Given the description of an element on the screen output the (x, y) to click on. 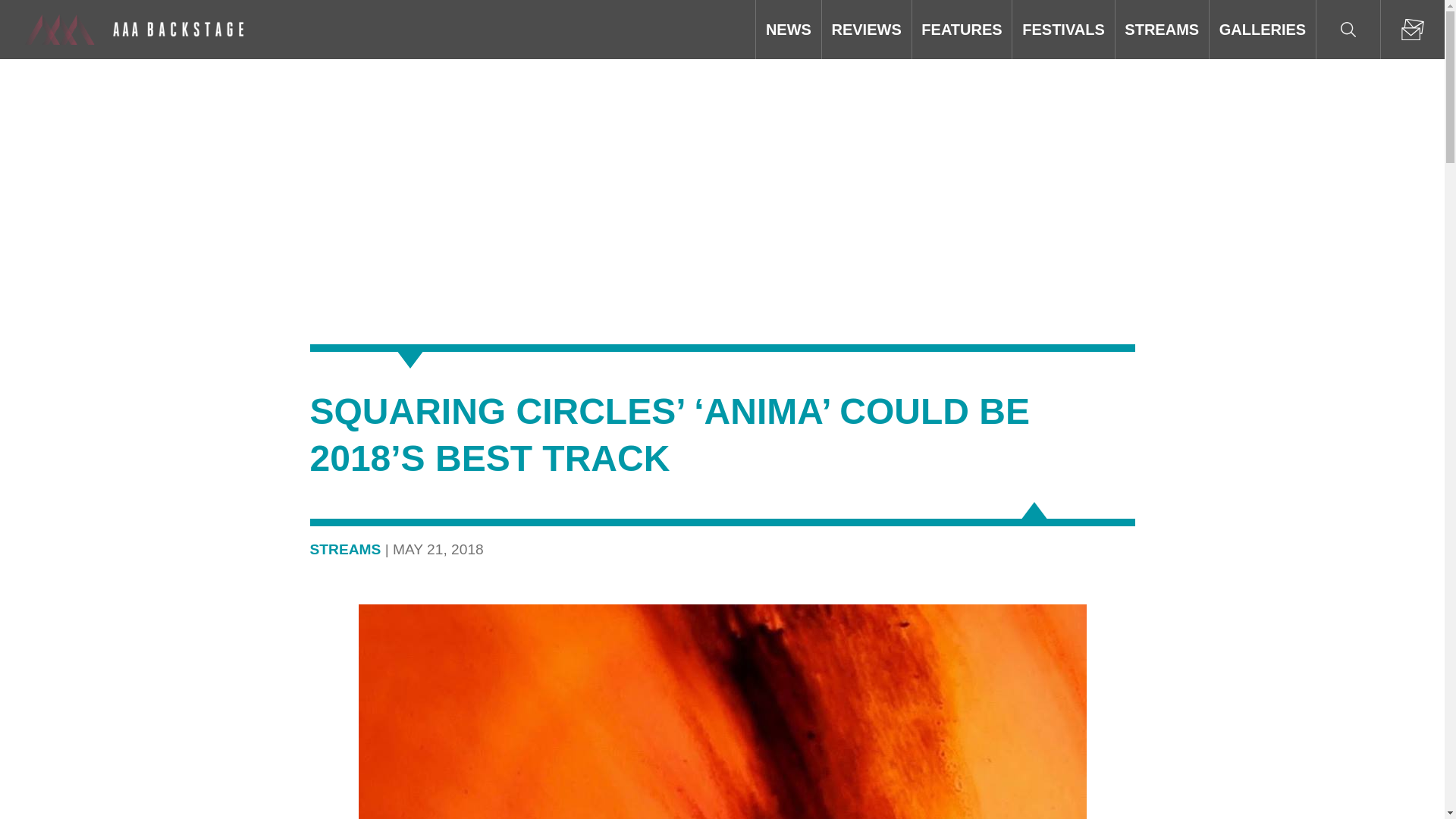
NEWS (788, 29)
GALLERIES (1262, 29)
Search (1348, 29)
REVIEWS (866, 29)
FEATURES (961, 29)
STREAMS (1161, 29)
FESTIVALS (1062, 29)
